Given the description of an element on the screen output the (x, y) to click on. 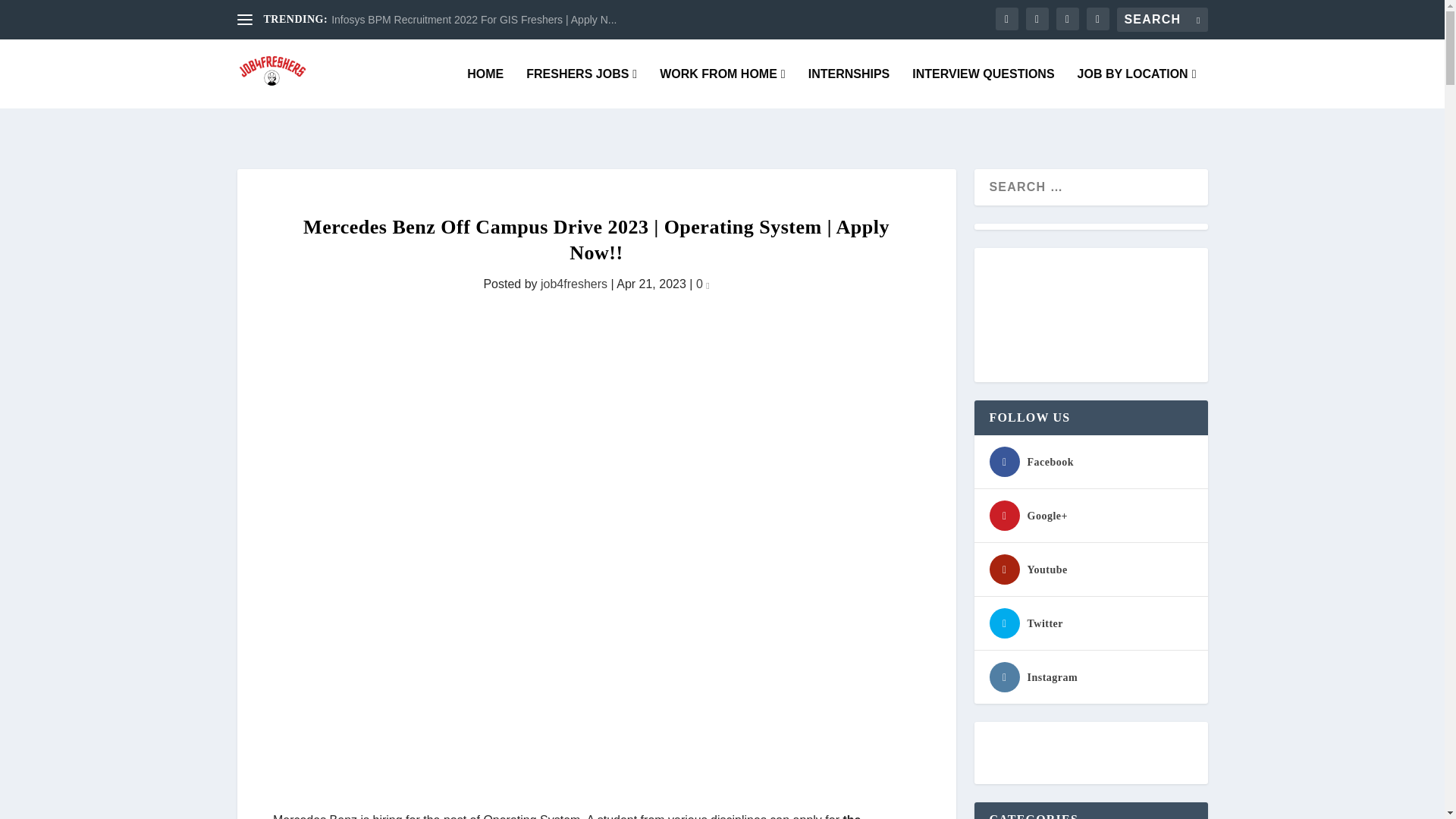
INTERNSHIPS (848, 87)
JOB BY LOCATION (1136, 87)
INTERVIEW QUESTIONS (983, 87)
WORK FROM HOME (722, 87)
FRESHERS JOBS (581, 87)
Search for: (1161, 19)
HOME (485, 87)
Posts by job4freshers (573, 283)
